Given the description of an element on the screen output the (x, y) to click on. 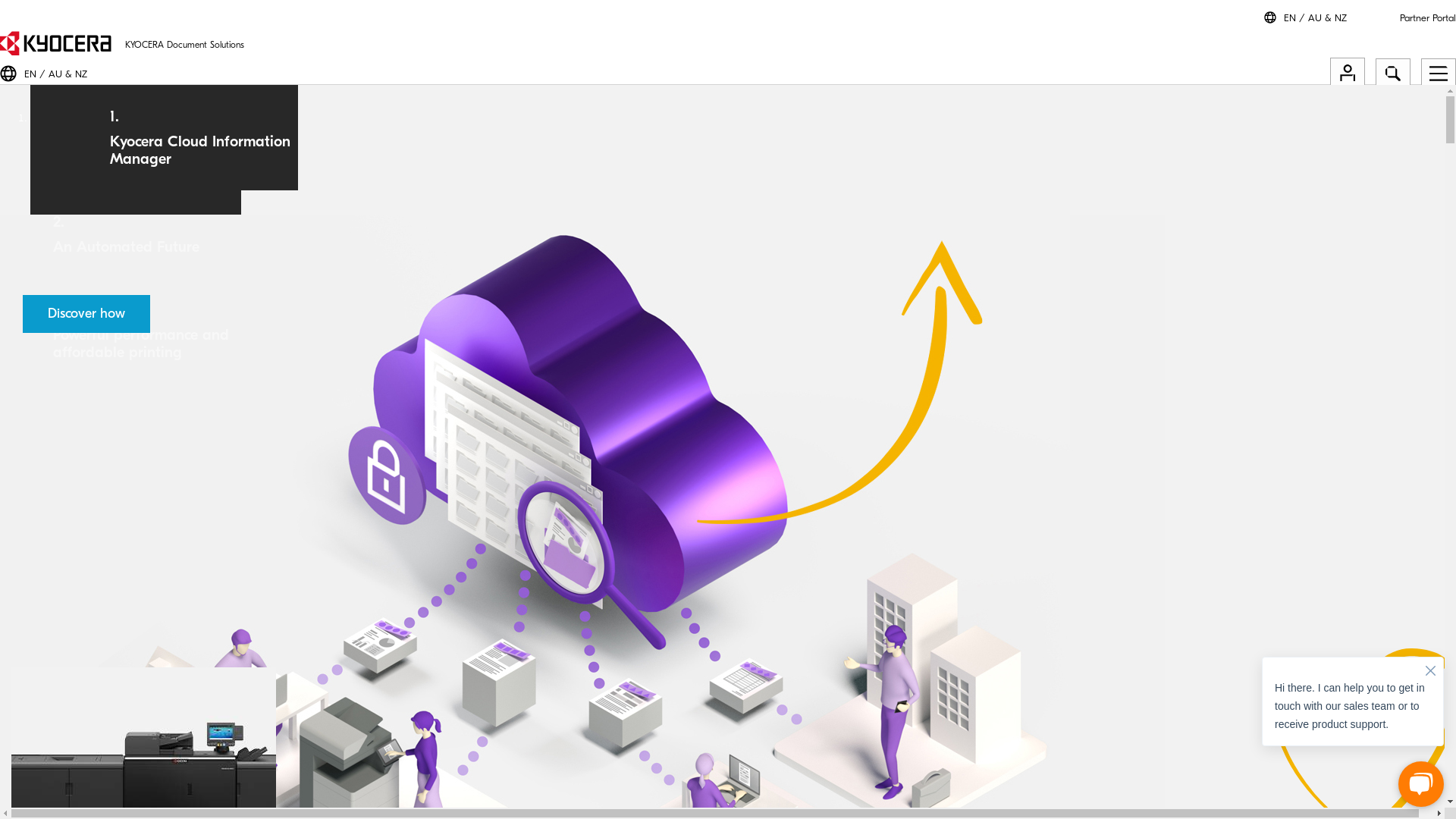
Put knowledge to work Element type: text (727, 500)
E-books Element type: text (73, 675)
Mobility Element type: text (73, 606)
Business Solutions Element type: text (727, 753)
EN / AU & NZ Element type: text (55, 73)
Articles Element type: text (71, 663)
The Cloud Element type: text (78, 584)
Discover how Element type: text (86, 313)
Insights From Kyocera Element type: text (101, 652)
Paperless Element type: text (75, 595)
Business Challenges Element type: text (99, 572)
Innovation Element type: text (78, 618)
Insights Hub Element type: text (727, 453)
Sustainability Element type: text (84, 629)
Data Security Element type: text (84, 641)
Business Challenges Element type: text (727, 406)
EN / AU & NZ Element type: text (1314, 17)
Smarter Workspaces Element type: text (727, 130)
Case Studies Element type: text (83, 686)
